Given the description of an element on the screen output the (x, y) to click on. 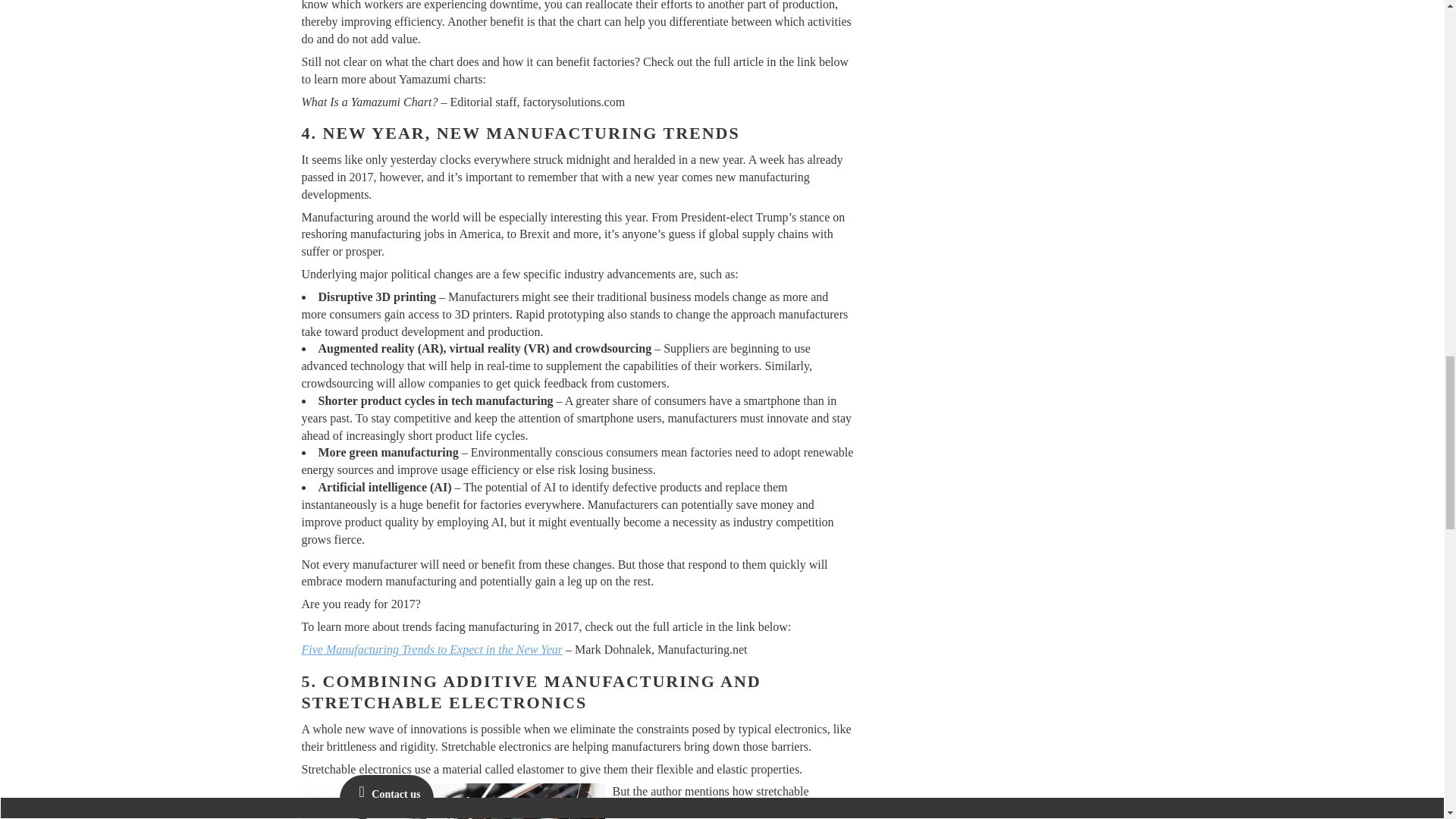
silk road (453, 800)
